Given the description of an element on the screen output the (x, y) to click on. 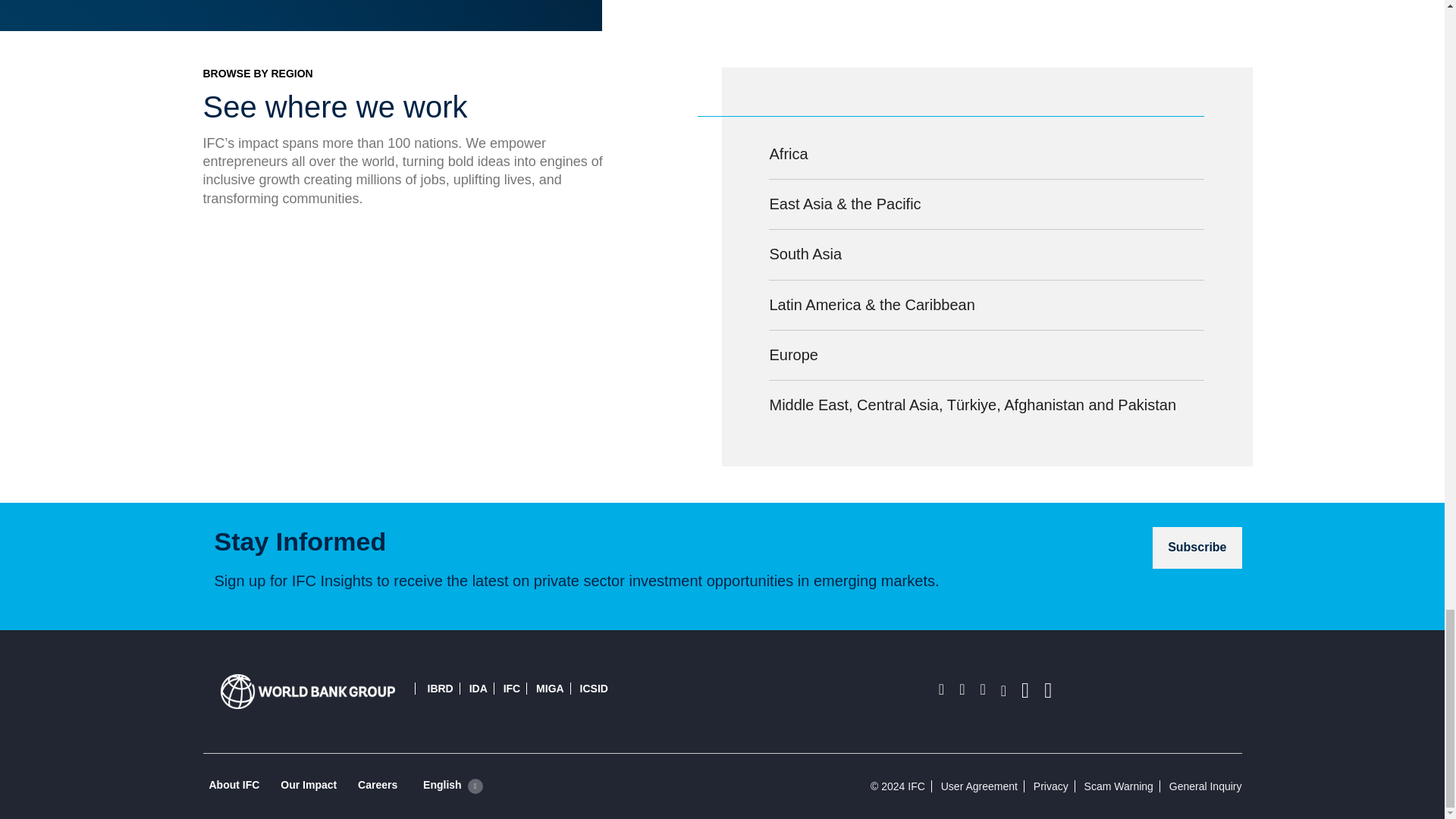
Logo Image Title (306, 691)
